Given the description of an element on the screen output the (x, y) to click on. 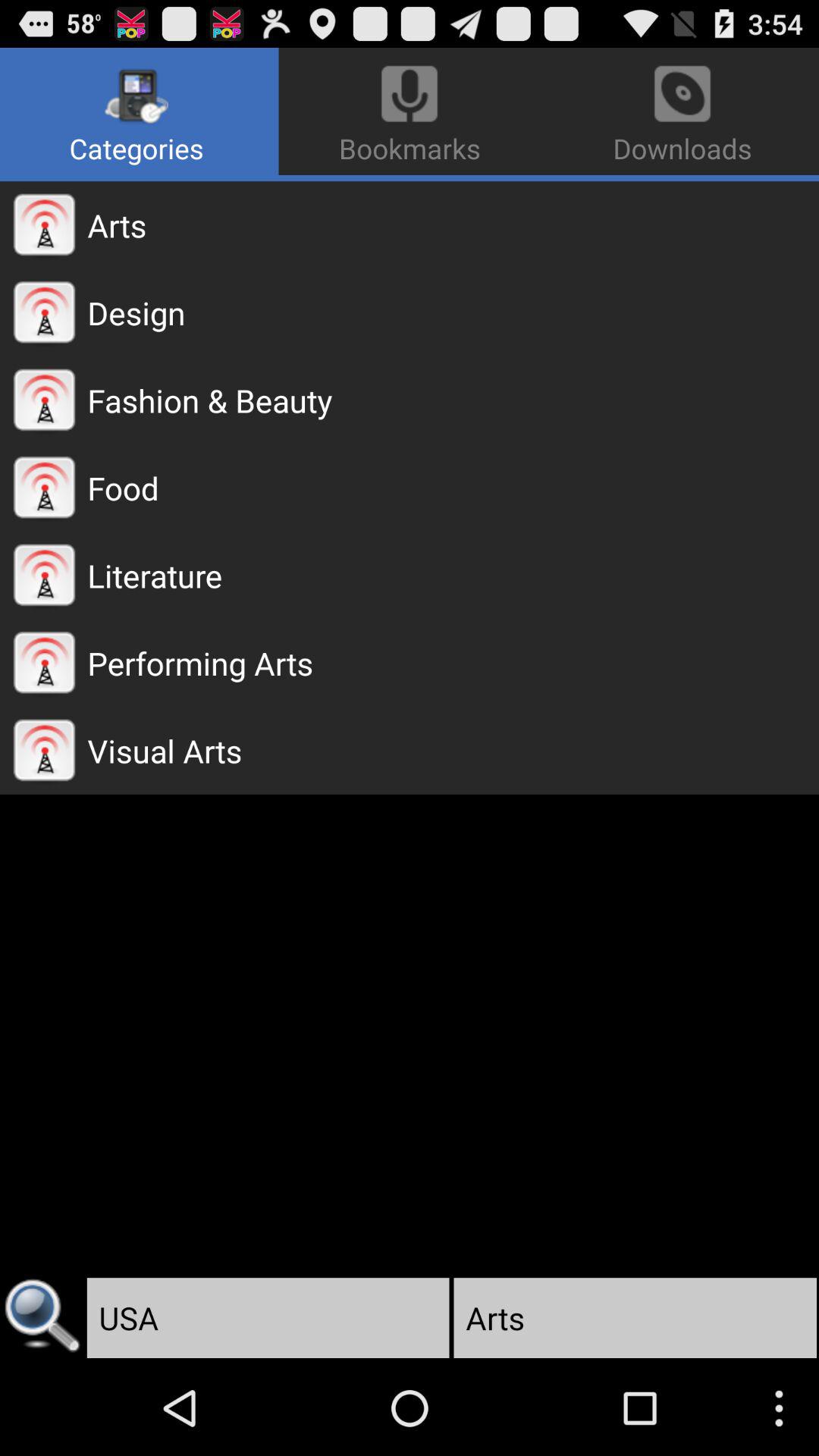
choose the bookmarks icon (409, 111)
